Given the description of an element on the screen output the (x, y) to click on. 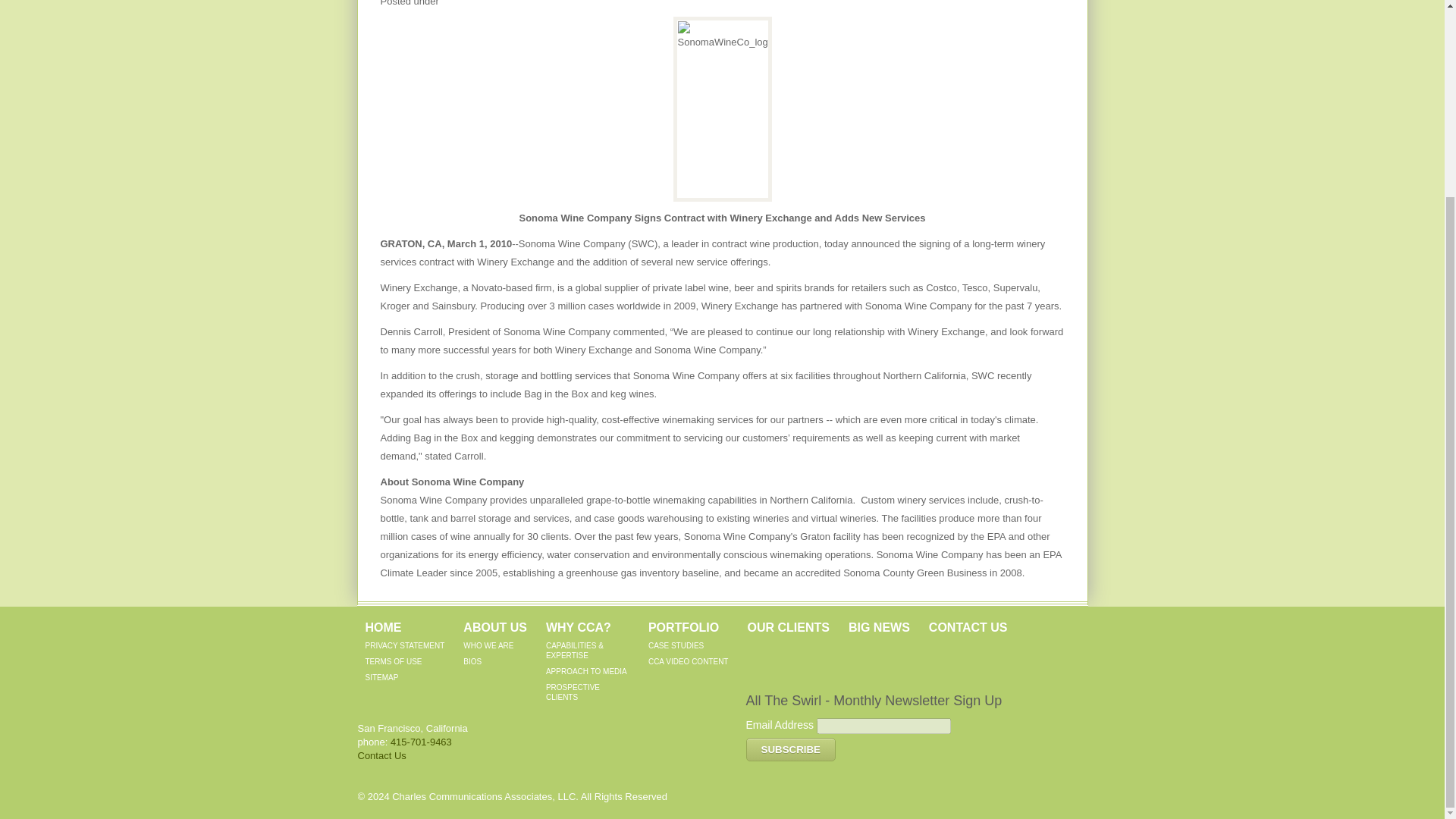
CONTACT US (967, 626)
Subscribe (790, 749)
HOME (383, 626)
OUR CLIENTS (787, 626)
WHO WE ARE (488, 644)
PRIVACY STATEMENT (405, 644)
BIG NEWS (879, 626)
ABOUT US (495, 626)
CASE STUDIES (675, 644)
BIOS (472, 661)
